Given the description of an element on the screen output the (x, y) to click on. 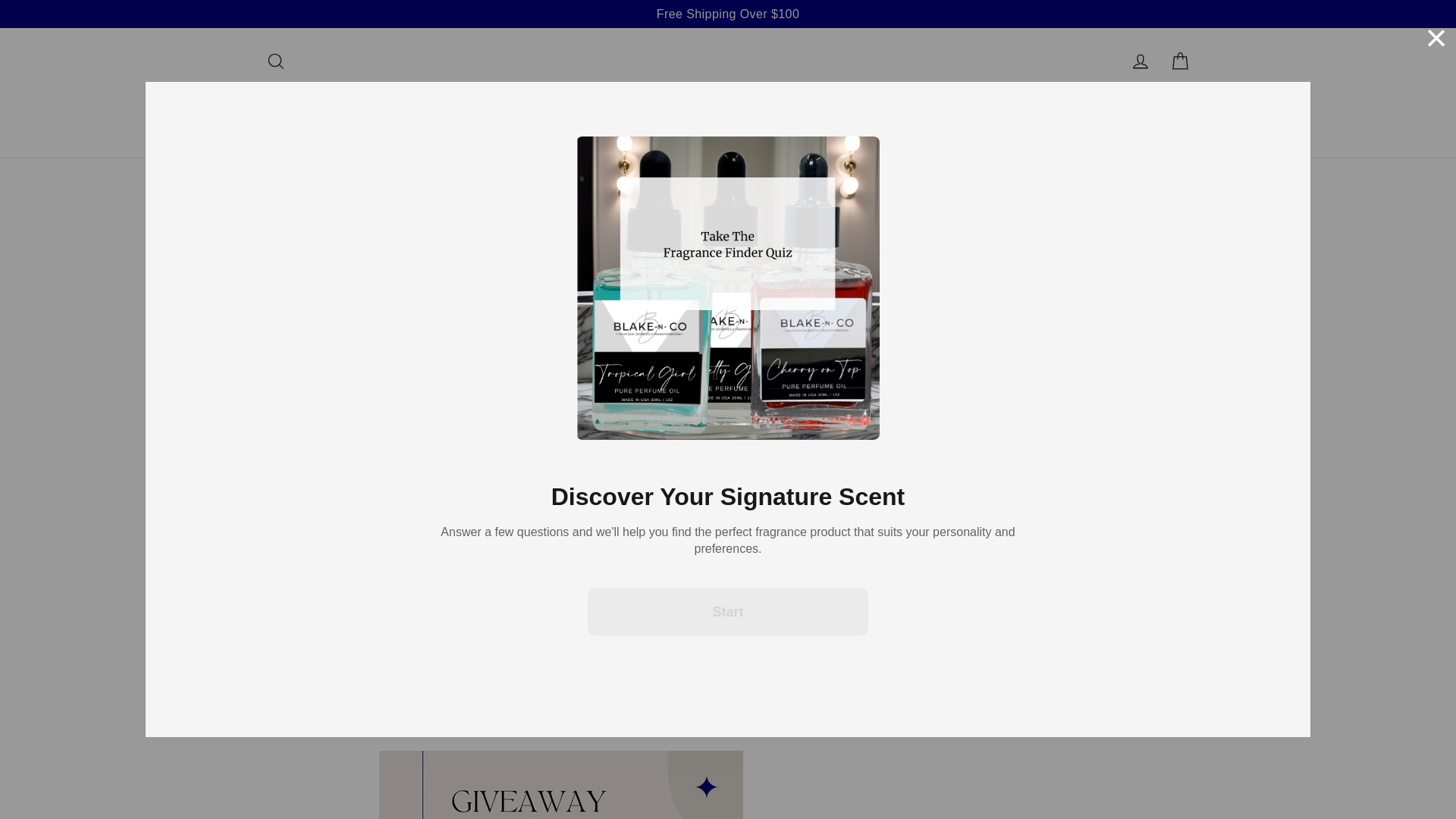
LOG IN (1140, 61)
SEARCH (275, 61)
